Given the description of an element on the screen output the (x, y) to click on. 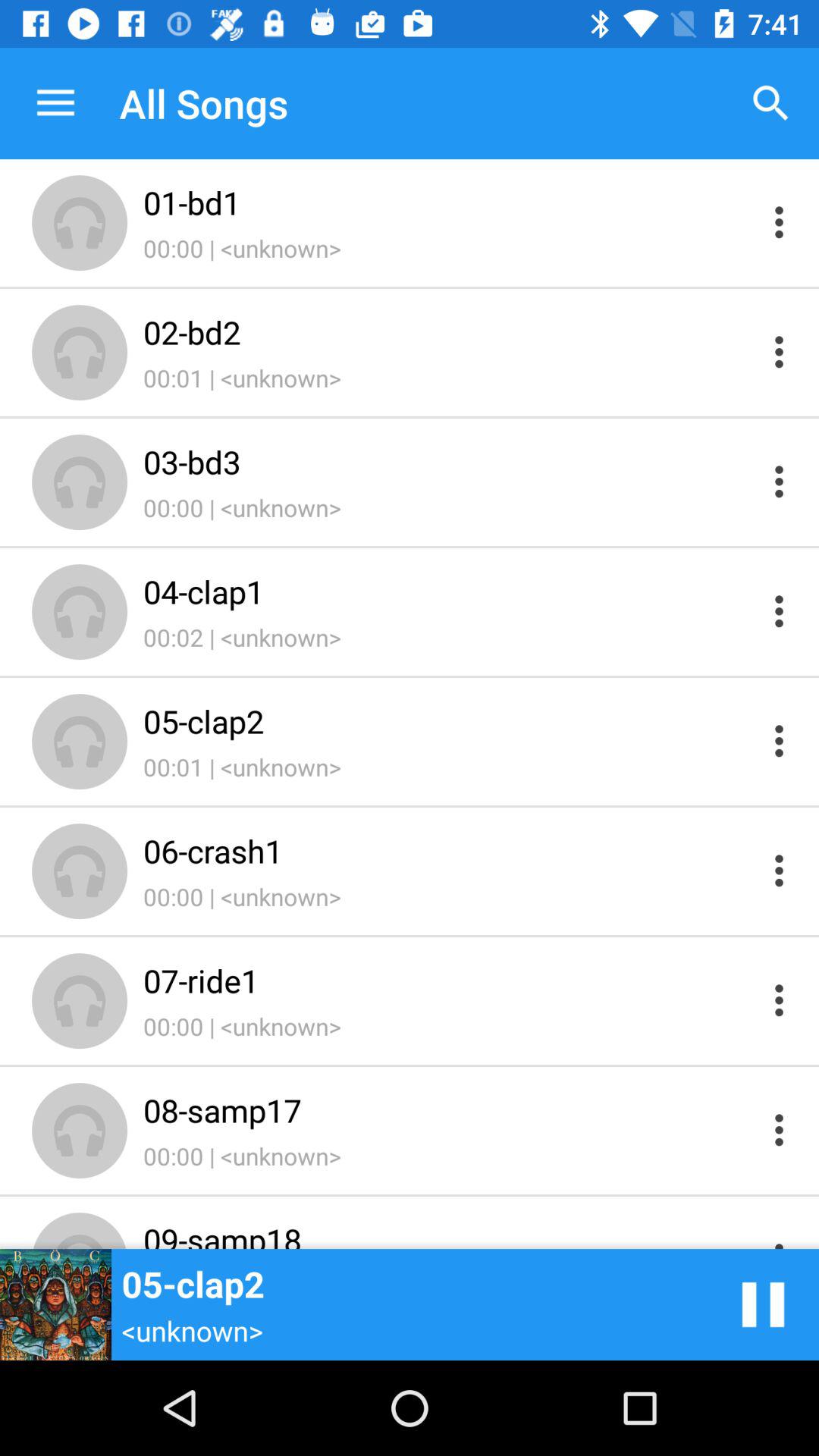
choose icon below 00:01 | <unknown> icon (449, 461)
